Given the description of an element on the screen output the (x, y) to click on. 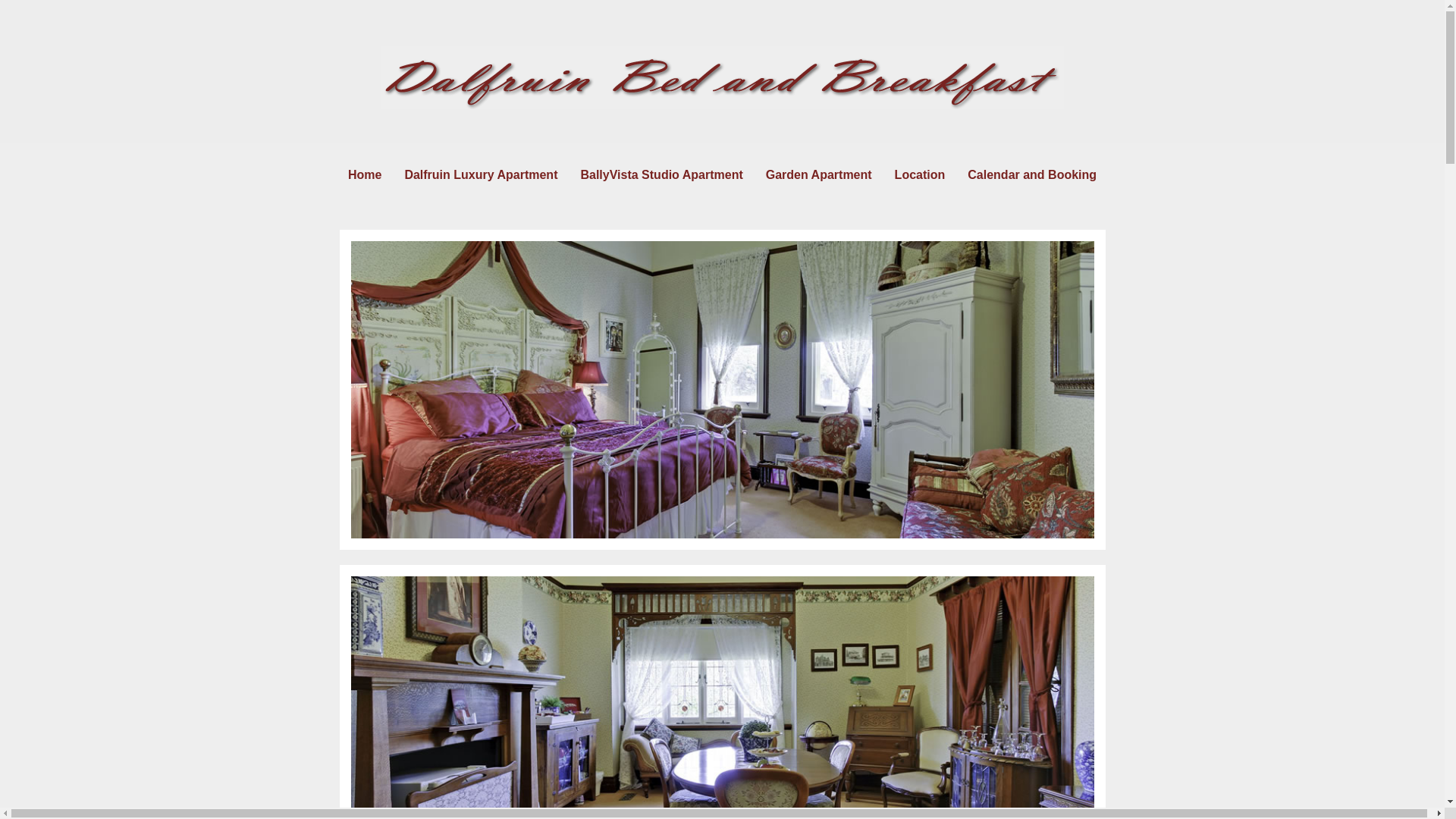
BallyVista Studio Apartment Element type: text (661, 174)
Calendar and Booking Element type: text (1031, 174)
Garden Apartment Element type: text (818, 174)
Dalfruin Luxury Apartment Element type: text (480, 174)
Location Element type: text (919, 174)
Home Element type: text (364, 174)
